Given the description of an element on the screen output the (x, y) to click on. 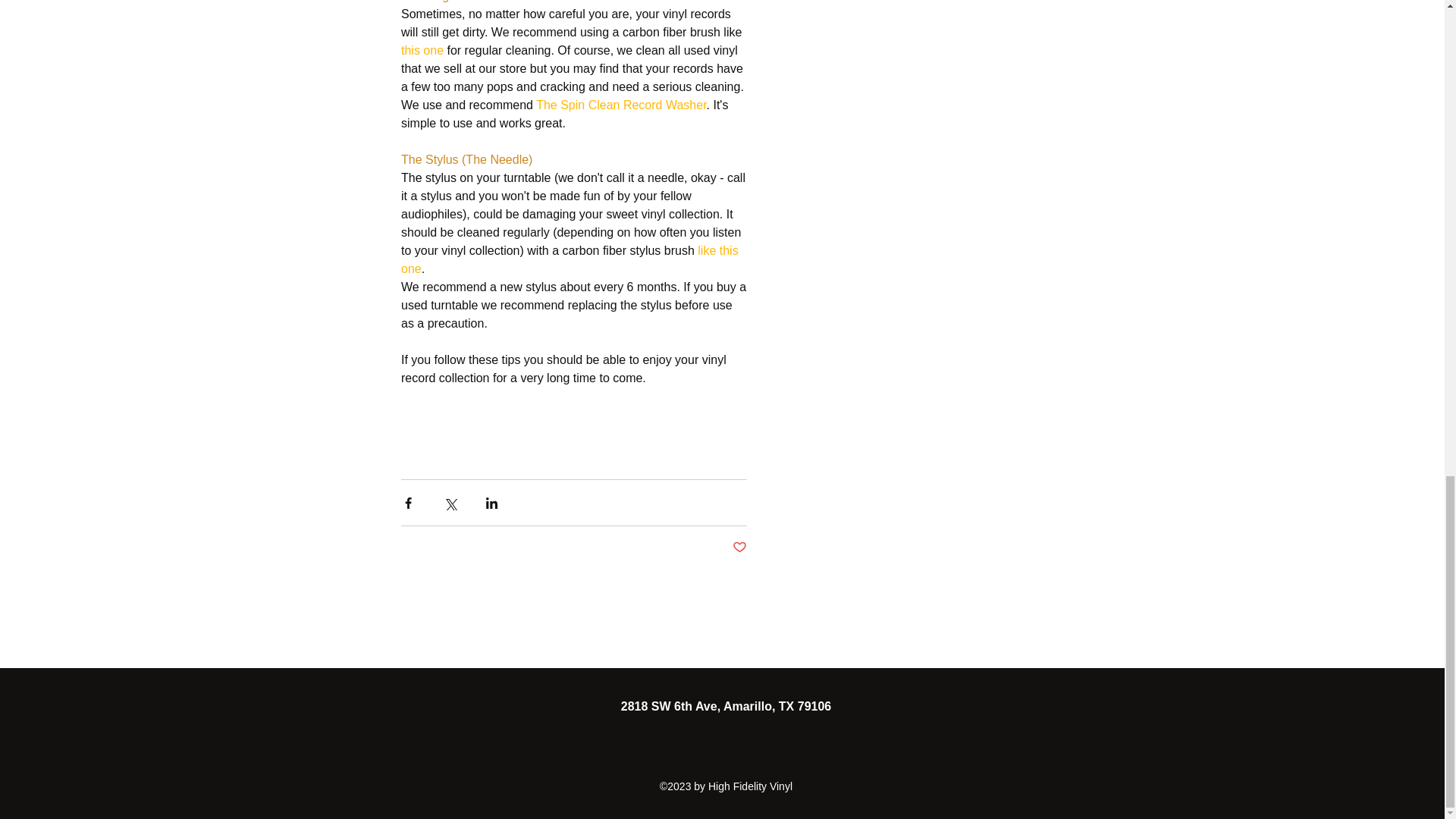
like this one (570, 258)
this one (421, 49)
Post not marked as liked (739, 547)
The Spin Clean Record Washer (620, 103)
